Given the description of an element on the screen output the (x, y) to click on. 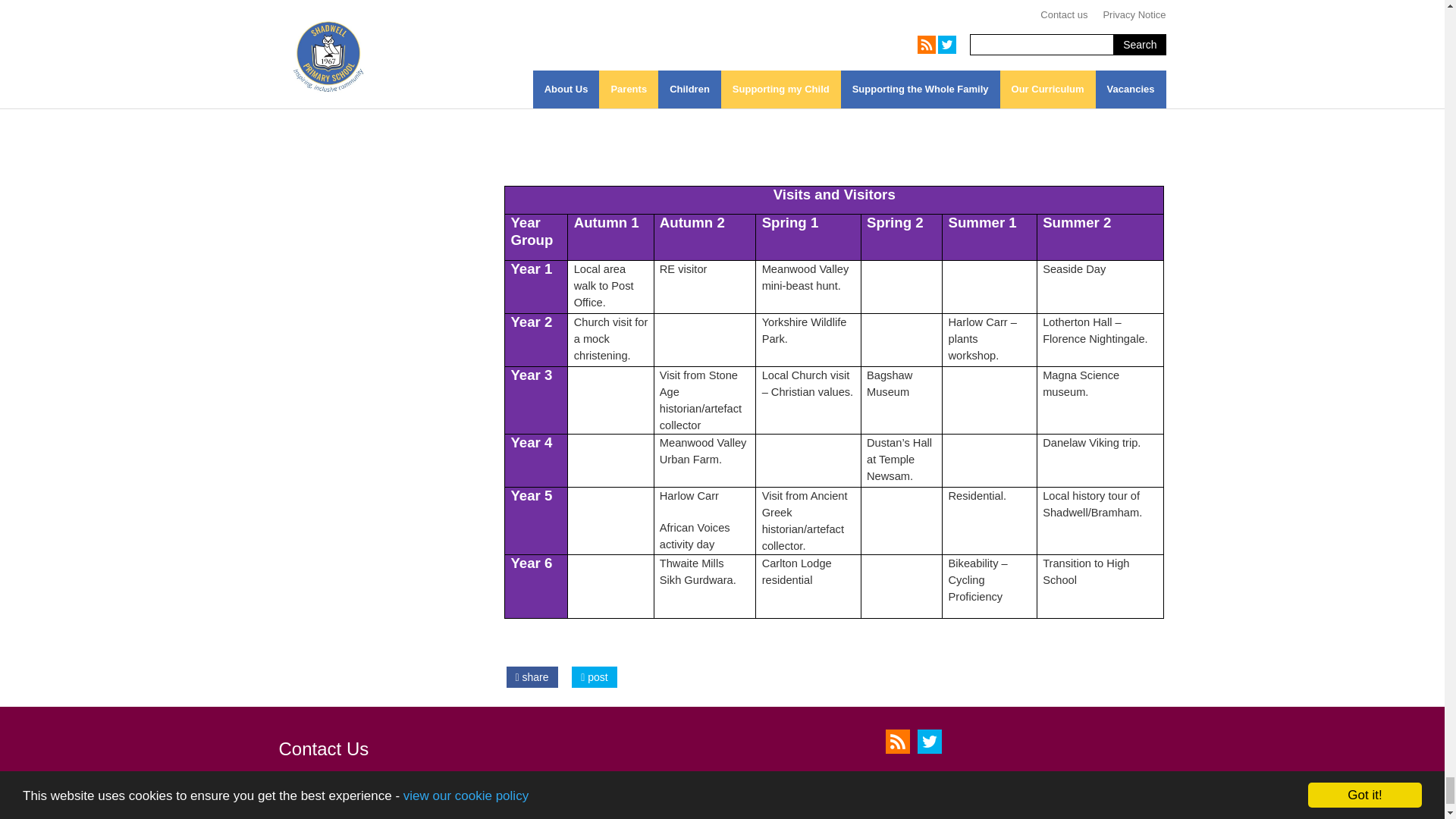
Follow us on Twitter (929, 741)
Post on X (593, 676)
post (593, 676)
Subscribe for our feed (897, 741)
RSS (897, 741)
Share on Facebook (531, 676)
share (531, 676)
Twitter (929, 741)
